Given the description of an element on the screen output the (x, y) to click on. 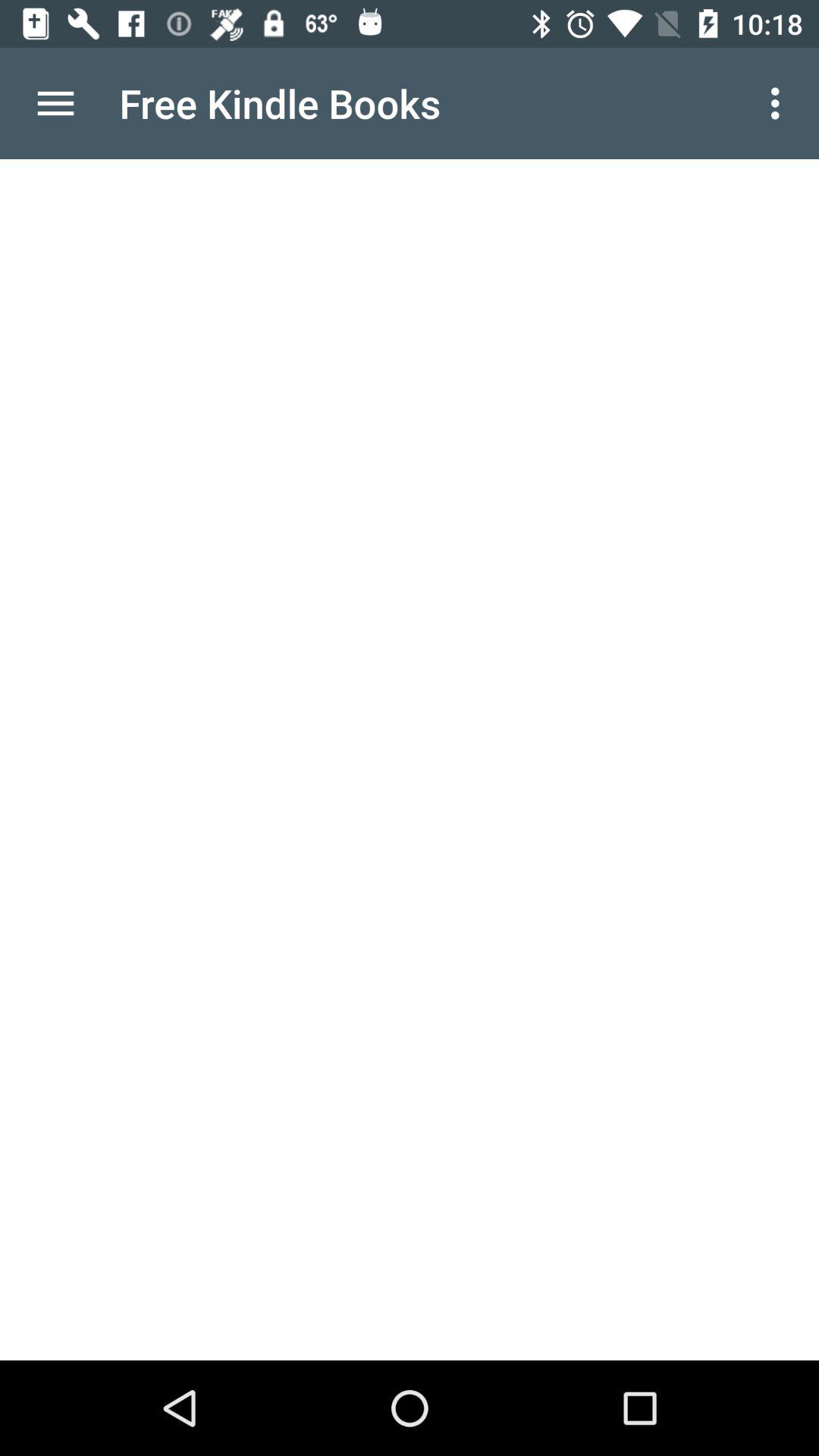
select the item at the top right corner (779, 103)
